Given the description of an element on the screen output the (x, y) to click on. 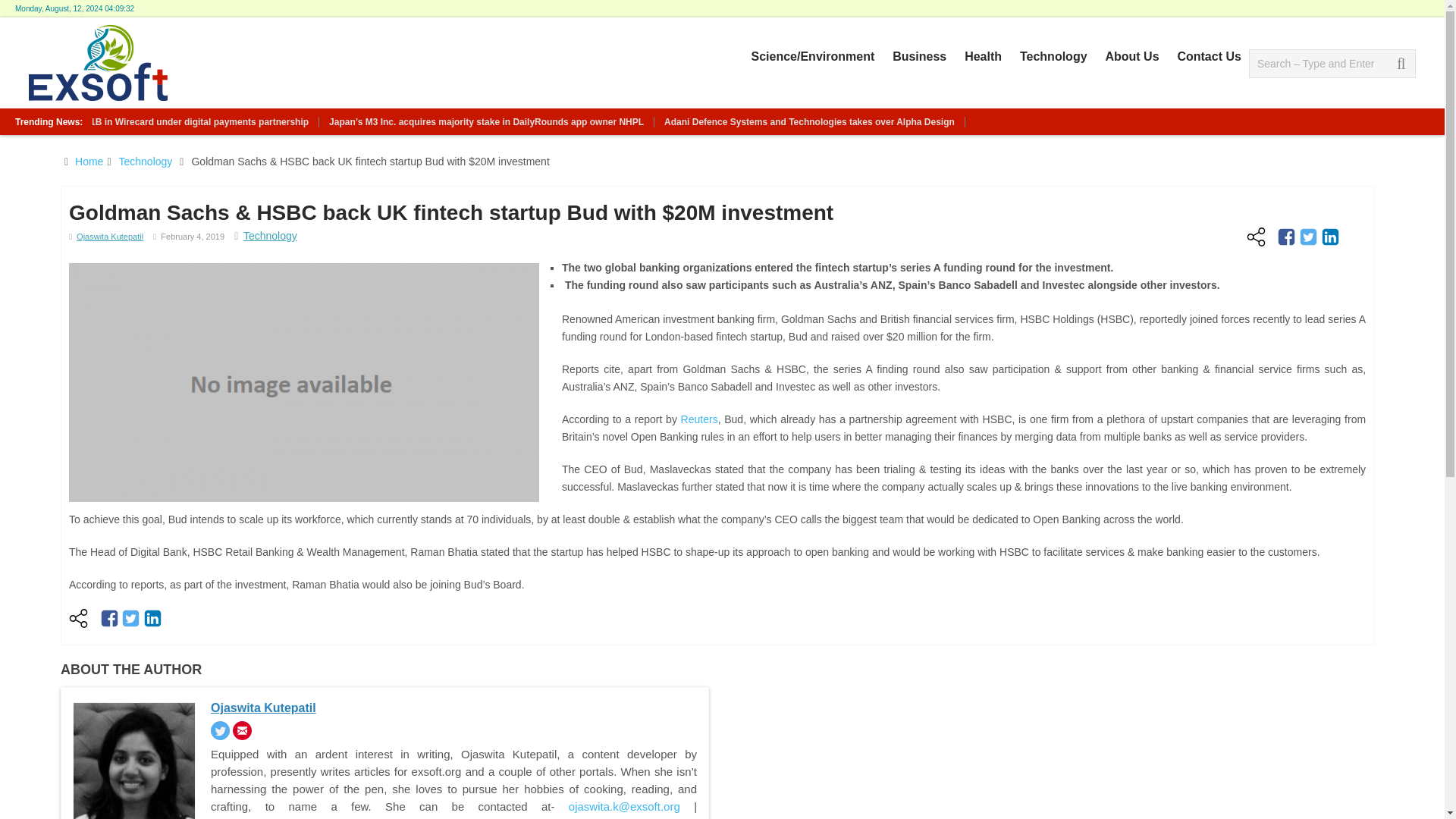
About Us (1131, 56)
Contact Us (1208, 56)
Home (89, 161)
Posts by Ojaswita Kutepatil (109, 235)
Technology (144, 161)
Ojaswita Kutepatil (109, 235)
Health (982, 56)
Business (919, 56)
